Given the description of an element on the screen output the (x, y) to click on. 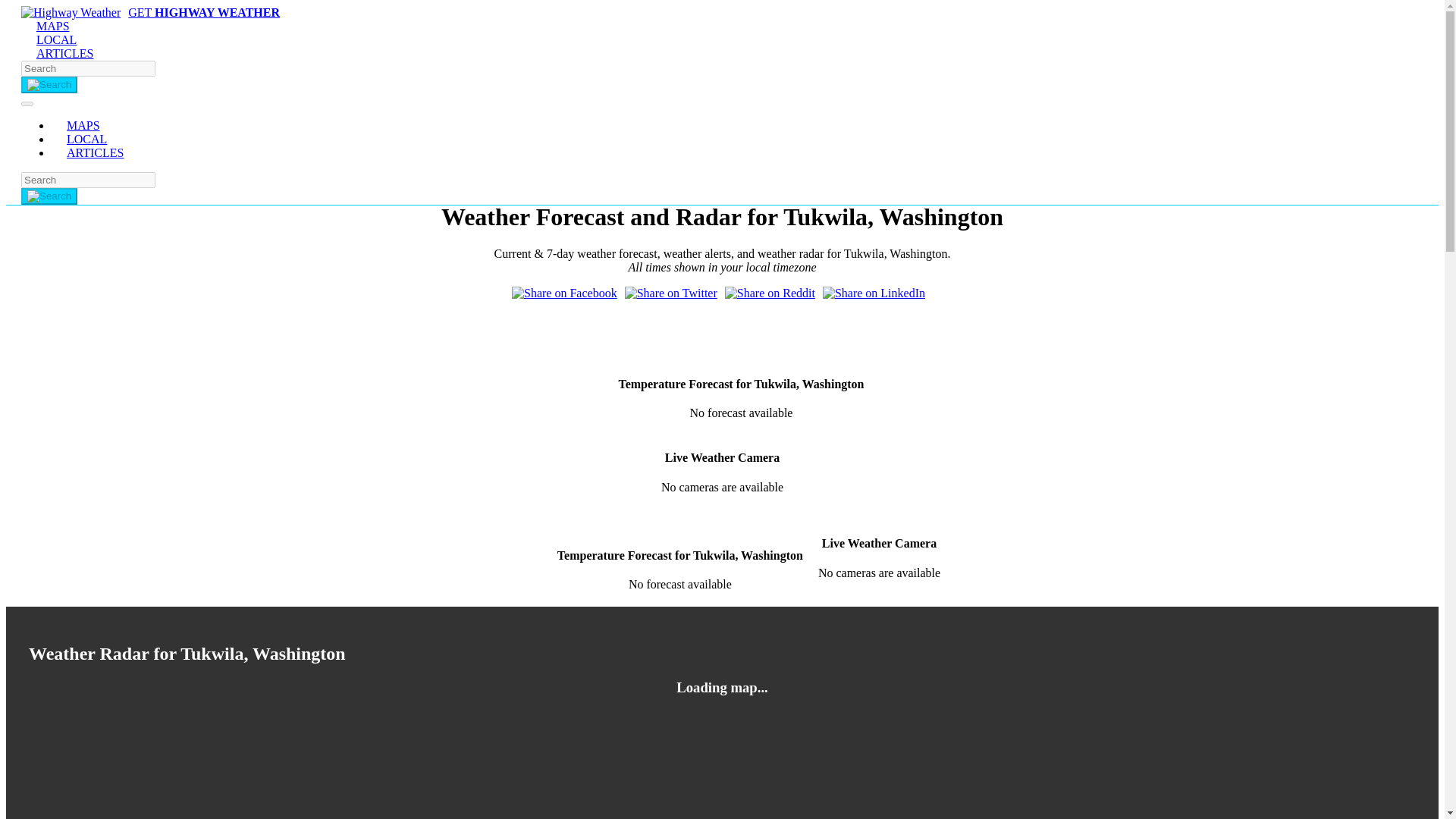
MAPS (82, 124)
LOCAL (86, 138)
LOCAL (86, 138)
MAPS (52, 25)
LOCAL (56, 39)
MAPS (52, 25)
LOCAL (56, 39)
MAPS (82, 124)
ARTICLES (64, 52)
ARTICLES (102, 152)
ARTICLES (64, 52)
ARTICLES (102, 152)
GET HIGHWAY WEATHER (150, 11)
GET HIGHWAY WEATHER (150, 11)
